Given the description of an element on the screen output the (x, y) to click on. 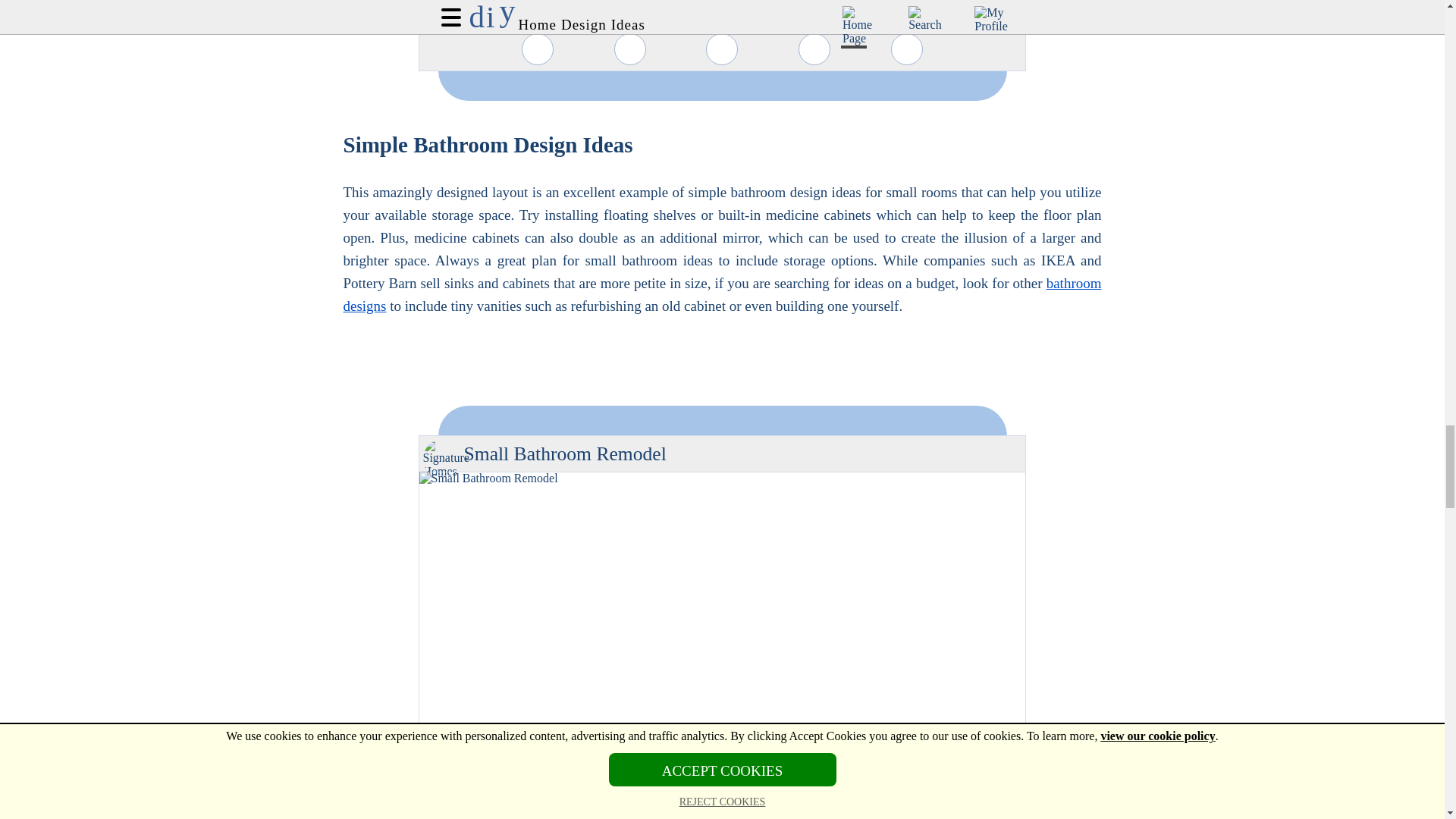
bathroom designs (721, 294)
